Given the description of an element on the screen output the (x, y) to click on. 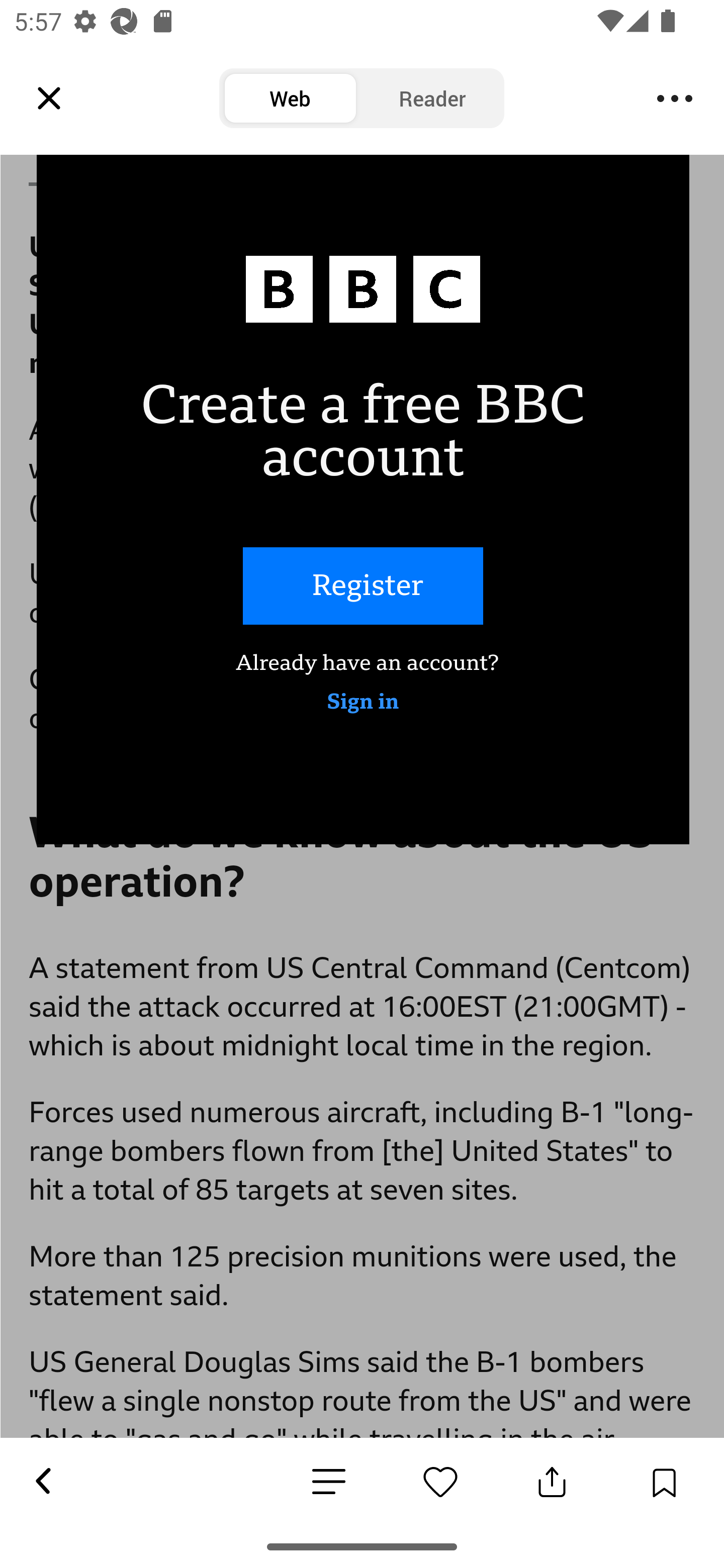
Reader (432, 98)
Menu (674, 98)
Leading Icon (49, 98)
Register (362, 587)
Sign in (362, 703)
Back Button (42, 1481)
News Detail Emotion (440, 1481)
Share Button (551, 1481)
Save Button (663, 1481)
News Detail Emotion (329, 1482)
